Given the description of an element on the screen output the (x, y) to click on. 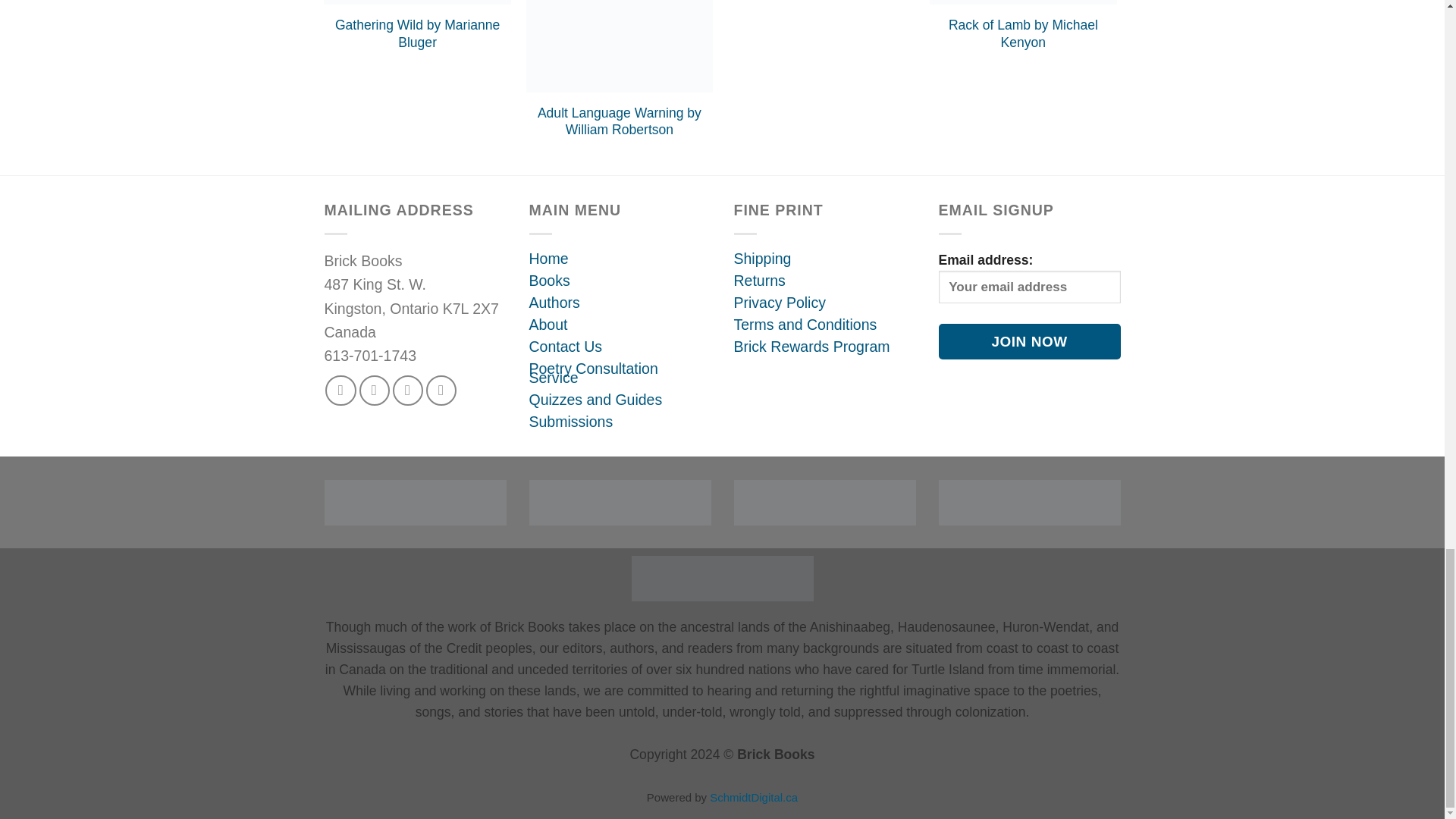
Follow on Twitter (408, 390)
Join Now (1030, 341)
Follow on Instagram (374, 390)
Follow on Facebook (339, 390)
Follow on YouTube (441, 390)
